Given the description of an element on the screen output the (x, y) to click on. 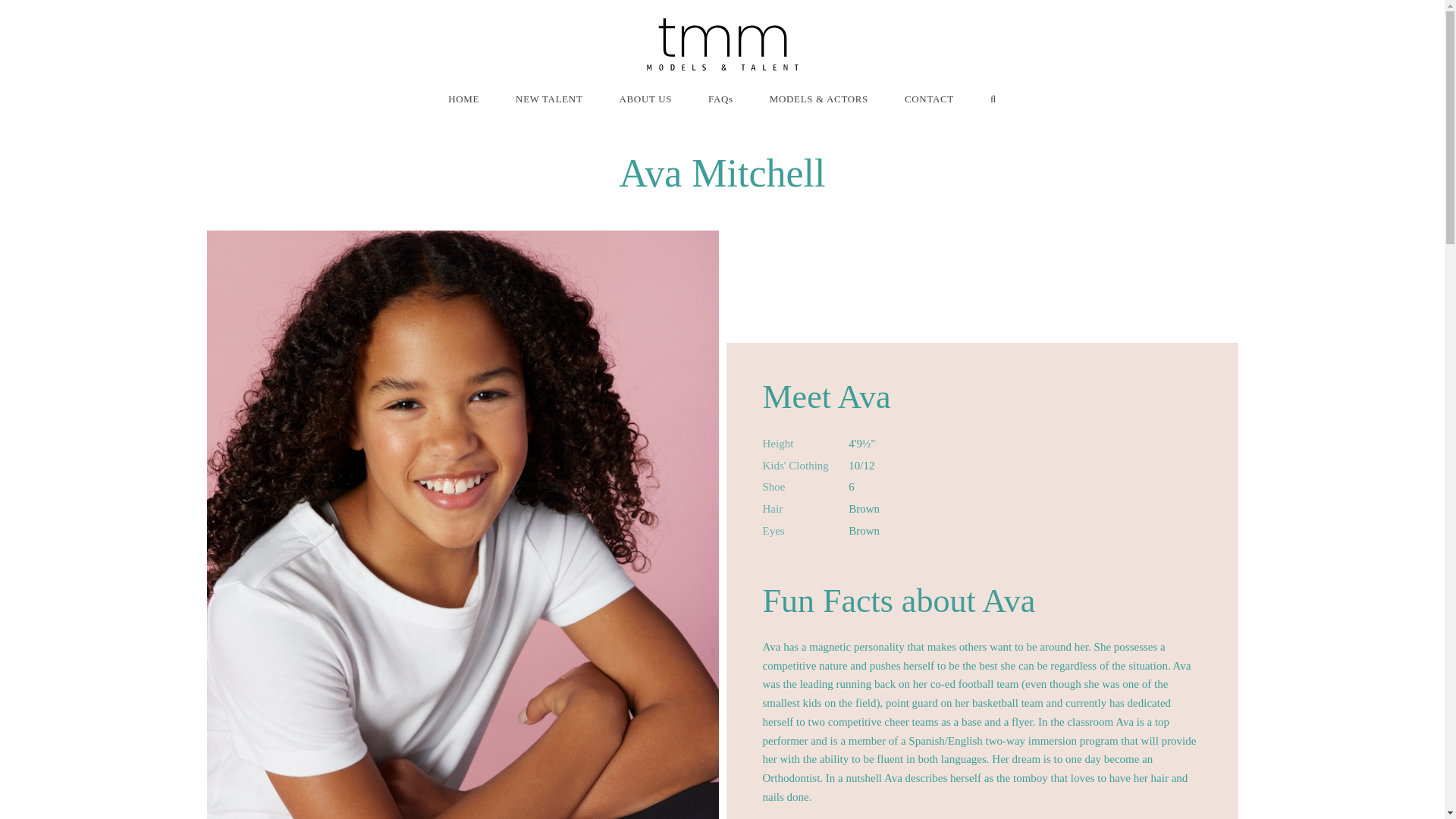
Return to Home (721, 44)
CONTACT (928, 99)
NEW TALENT (548, 99)
ABOUT US (645, 99)
SEARCH (993, 99)
FAQs (720, 99)
HOME (463, 99)
Search Talent (993, 99)
